Given the description of an element on the screen output the (x, y) to click on. 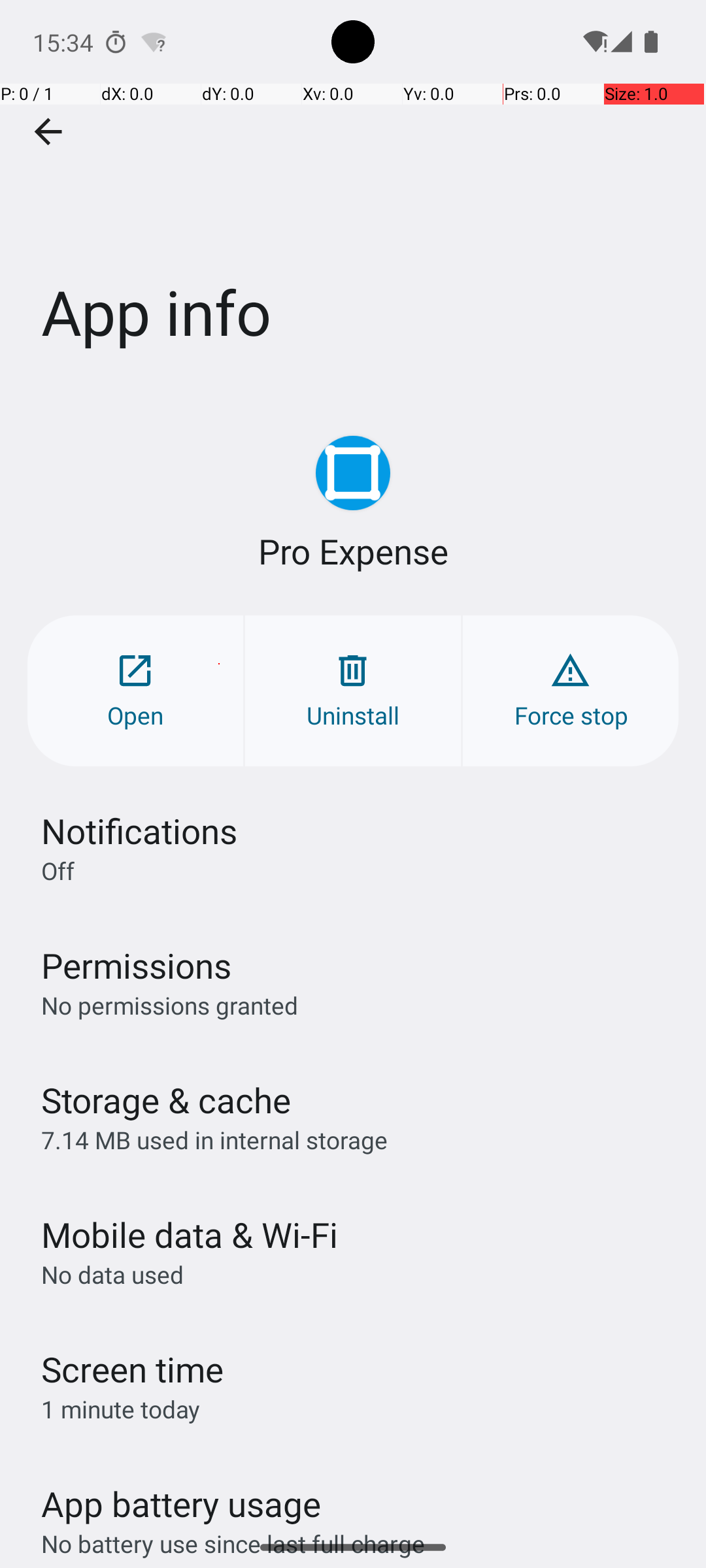
Open Element type: android.widget.Button (135, 690)
Uninstall Element type: android.widget.Button (352, 690)
Force stop Element type: android.widget.Button (570, 690)
Permissions Element type: android.widget.TextView (136, 965)
No permissions granted Element type: android.widget.TextView (169, 1004)
Storage & cache Element type: android.widget.TextView (166, 1099)
7.14 MB used in internal storage Element type: android.widget.TextView (214, 1139)
Mobile data & Wi‑Fi Element type: android.widget.TextView (189, 1234)
No data used Element type: android.widget.TextView (112, 1273)
1 minute today Element type: android.widget.TextView (120, 1408)
App battery usage Element type: android.widget.TextView (181, 1503)
